Given the description of an element on the screen output the (x, y) to click on. 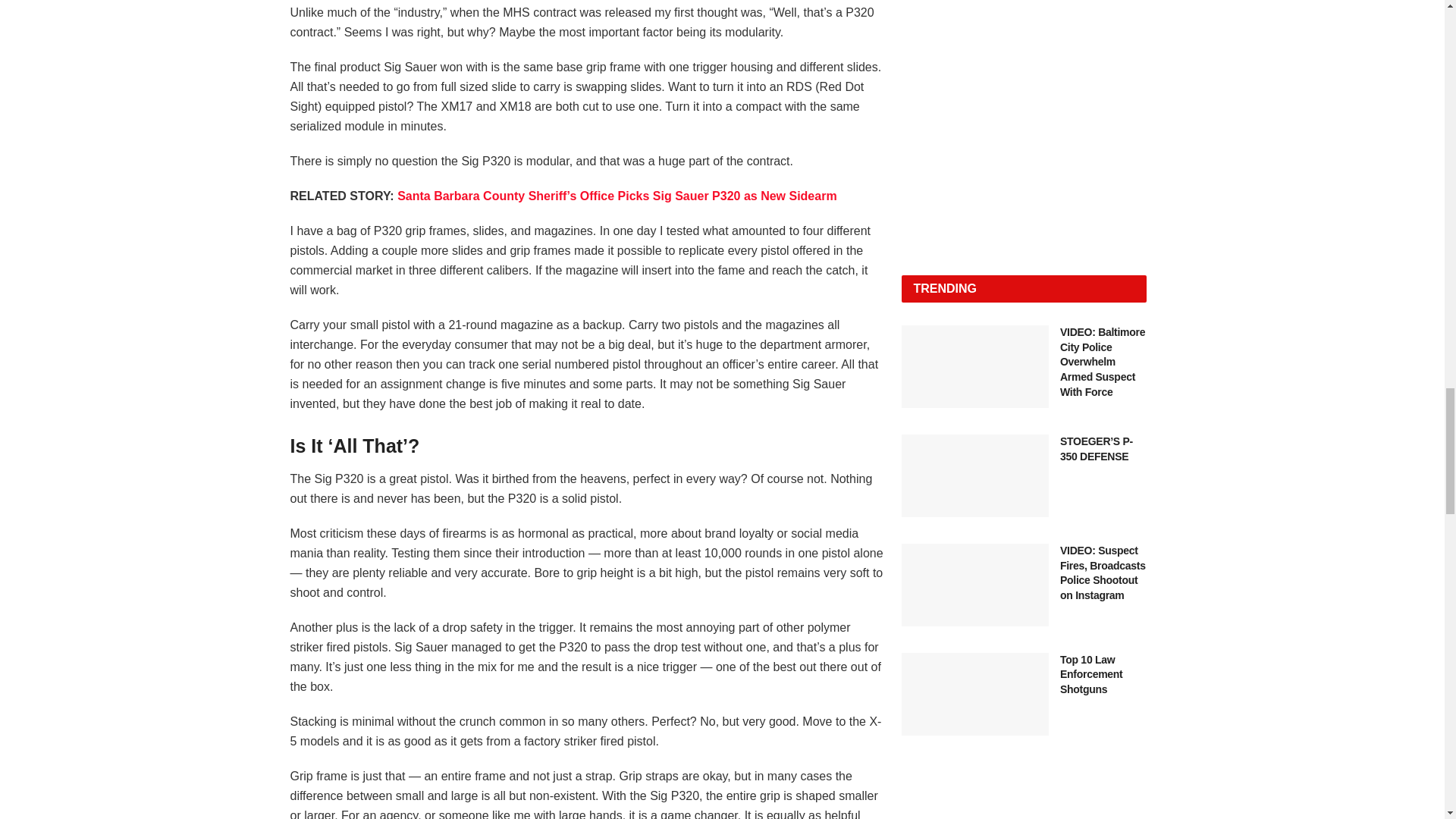
3rd party ad content (1024, 149)
3rd party ad content (1024, 12)
3rd party ad content (1024, 805)
